Given the description of an element on the screen output the (x, y) to click on. 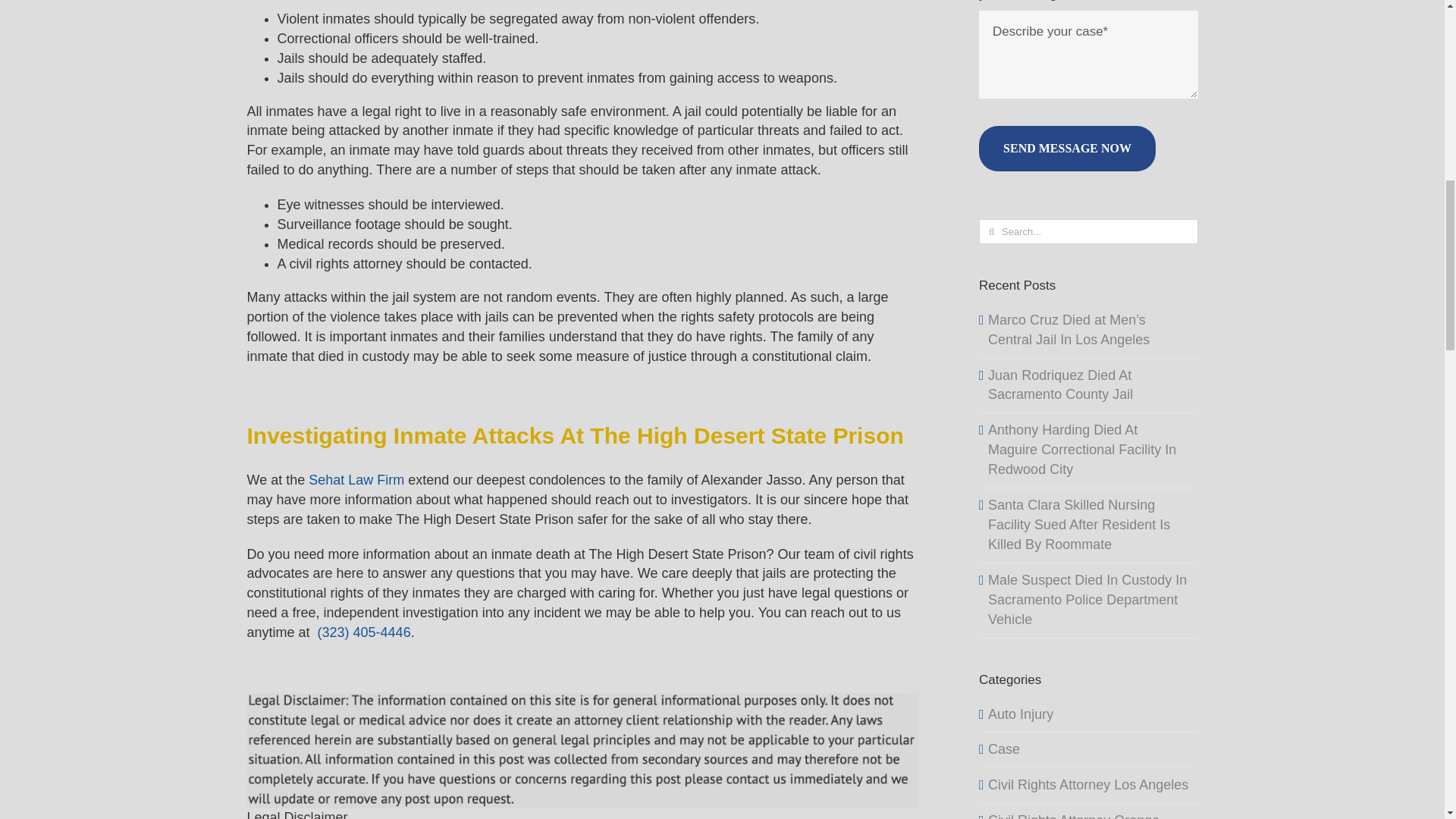
Sehat Law Firm (356, 479)
